Given the description of an element on the screen output the (x, y) to click on. 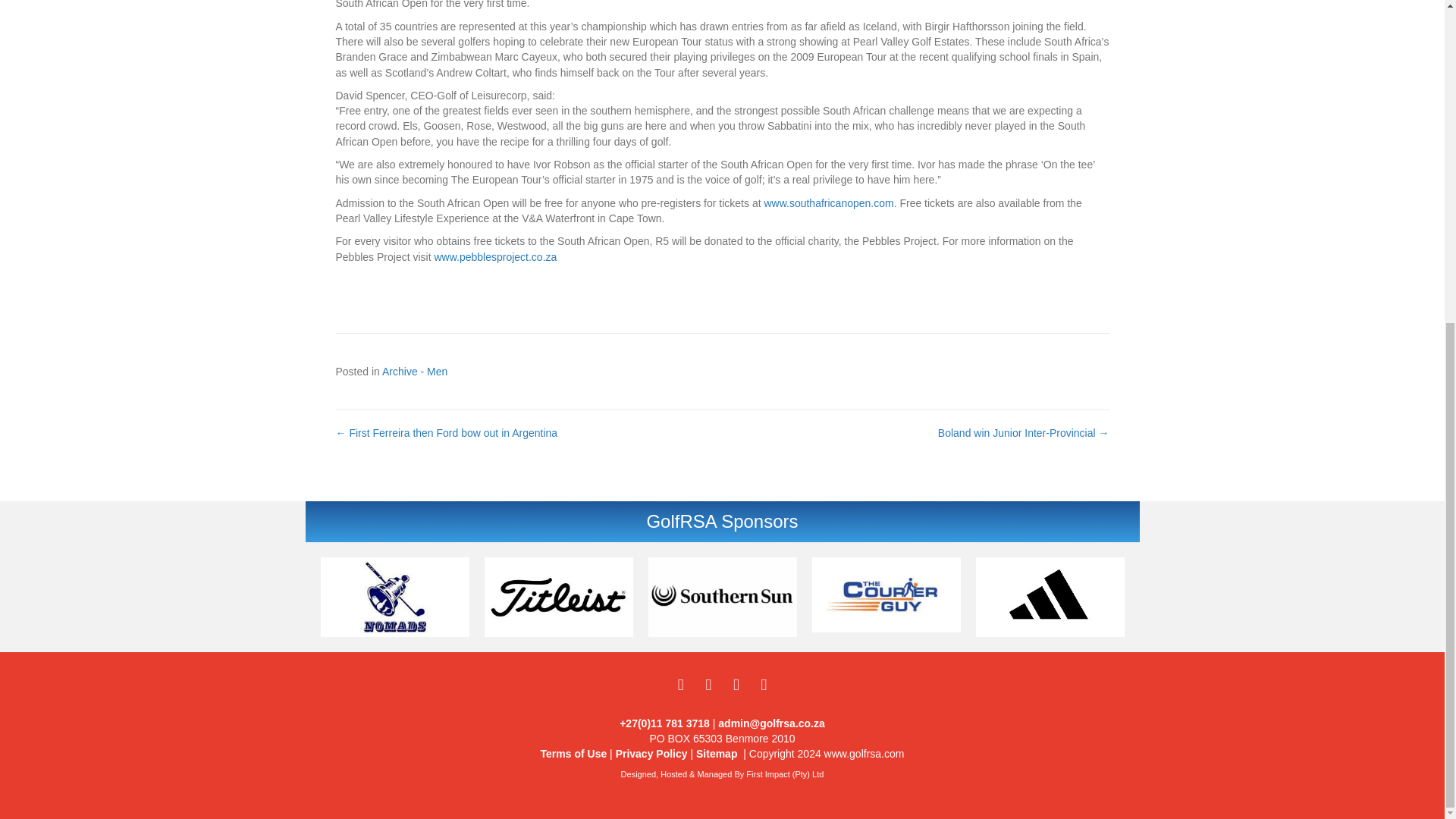
titleist (557, 597)
Southern-Sun (721, 597)
Untitled-1 (394, 597)
Addidas.1 (1049, 597)
